Given the description of an element on the screen output the (x, y) to click on. 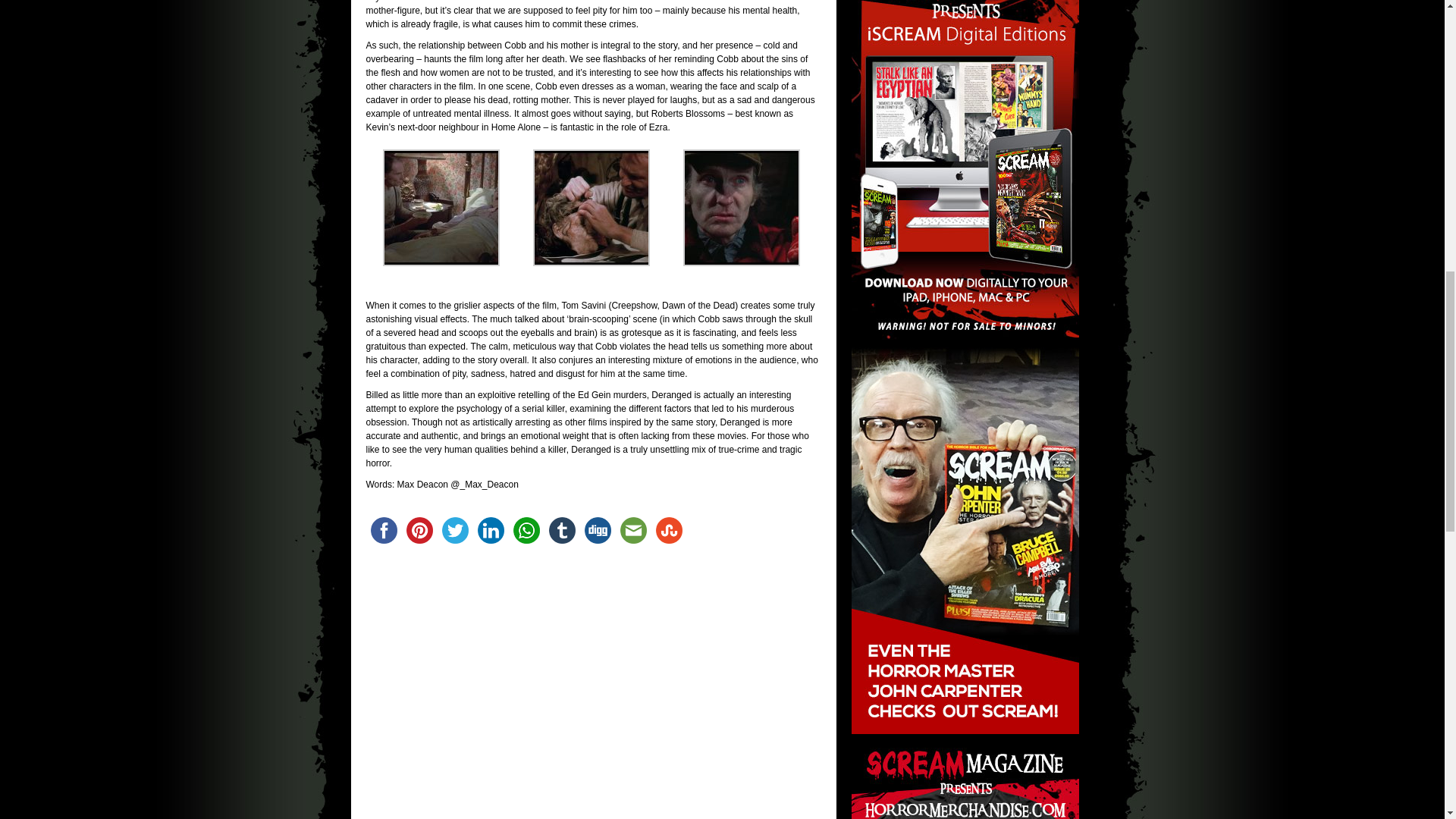
twitter (453, 529)
facebook (383, 529)
tumblr (561, 529)
diggit (596, 529)
whatsapp (525, 529)
pinterest (419, 529)
linkedin (490, 529)
